Given the description of an element on the screen output the (x, y) to click on. 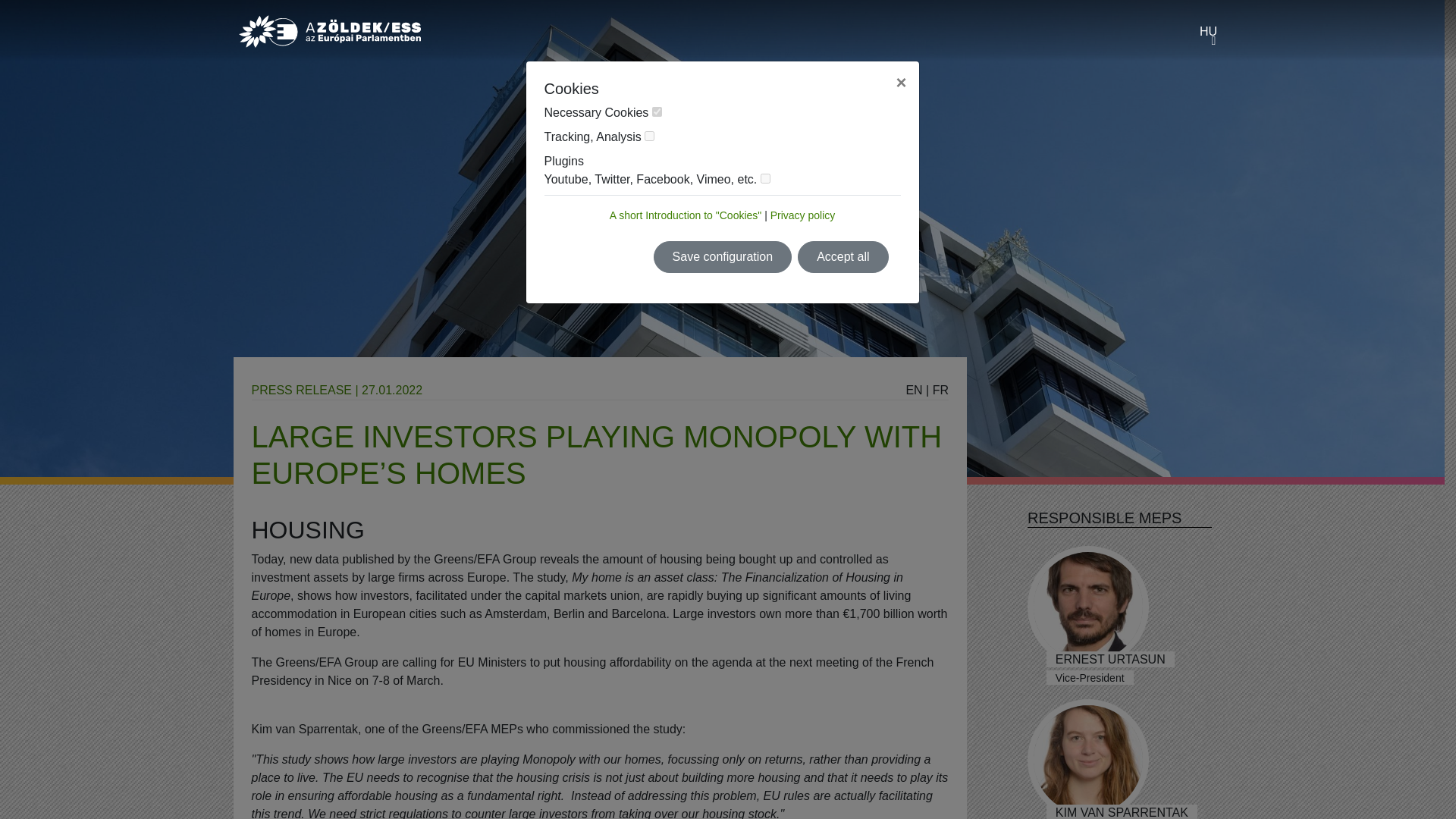
4 (765, 178)
Privacy policy (802, 215)
2 (649, 135)
1 (657, 112)
EN (913, 390)
Save configuration (722, 256)
Accept all (842, 256)
FR (941, 390)
A short Introduction to "Cookies" (685, 215)
Ernest Urtasun (1087, 606)
Kim Van Sparrentak (1087, 759)
